Given the description of an element on the screen output the (x, y) to click on. 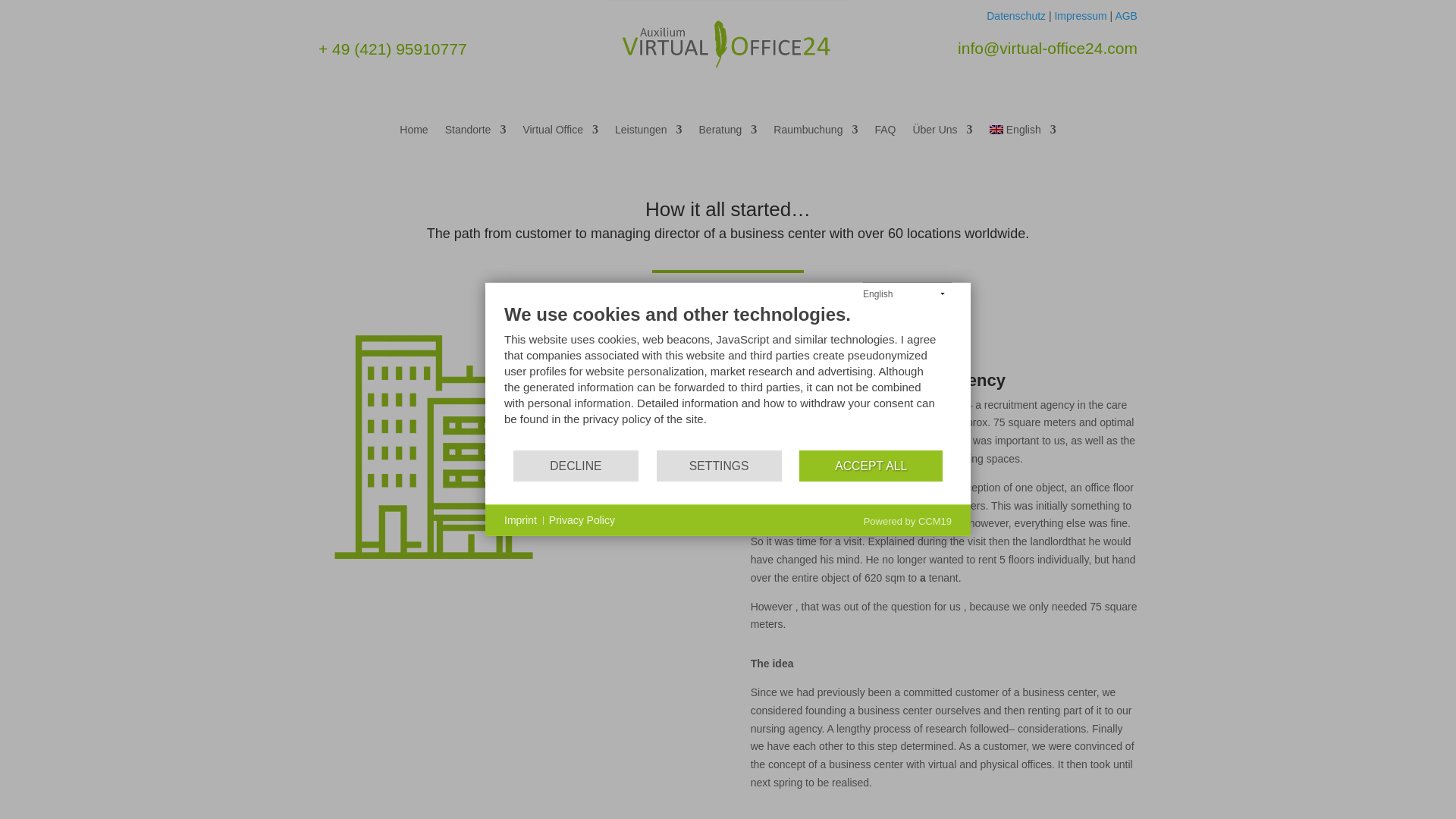
Virtual-Office (432, 444)
Datenschutz (1016, 15)
Standorte (475, 132)
Impressum (1080, 15)
Logo VO24 Feder (727, 44)
English (1023, 132)
Home (413, 132)
AGB (1126, 15)
